Given the description of an element on the screen output the (x, y) to click on. 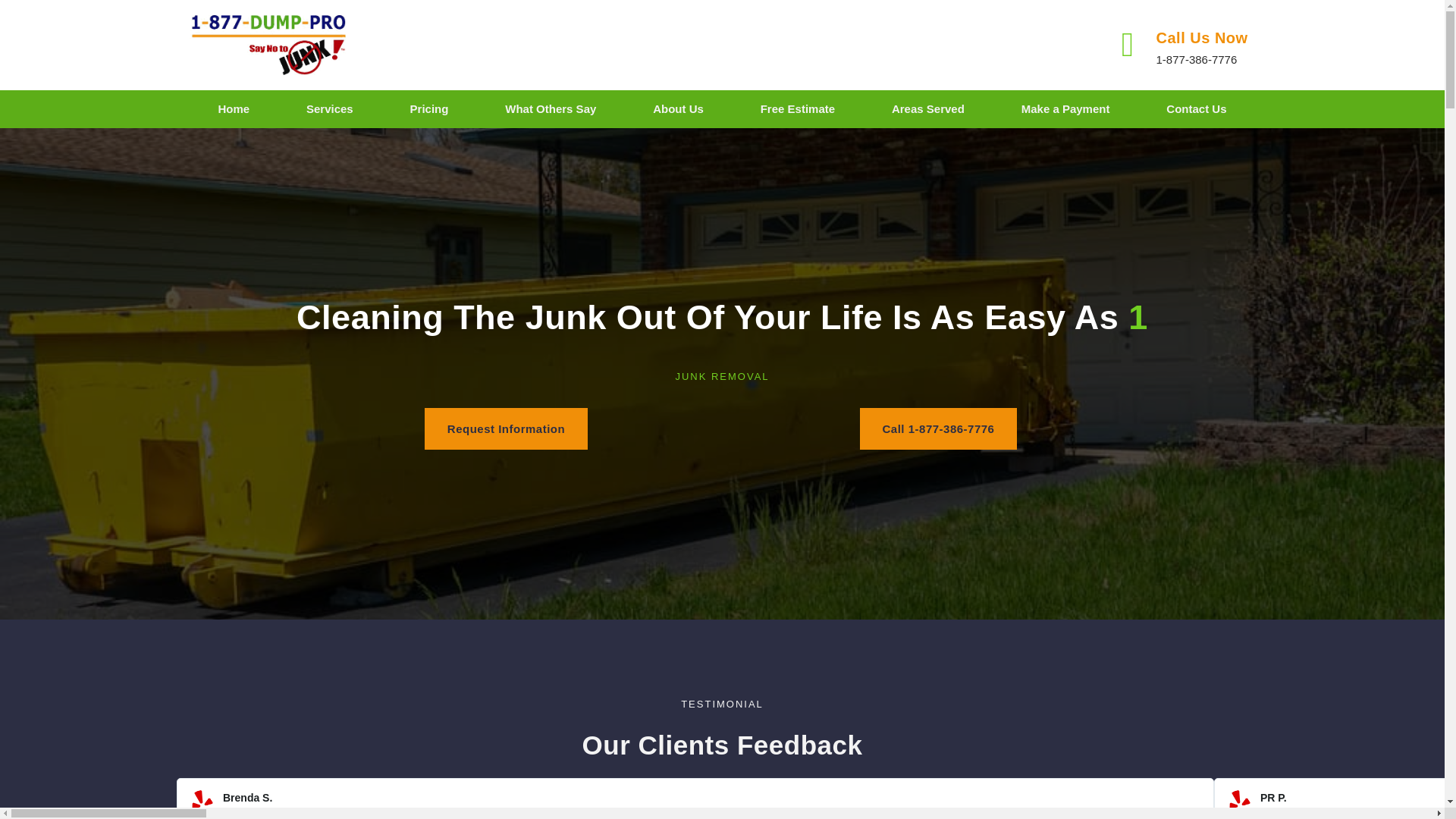
Contact Us (1196, 109)
Free Estimate (797, 109)
Areas Served (927, 109)
Make a Payment (1065, 109)
Home (233, 109)
Call Us Now (1201, 37)
About Us (678, 109)
Pricing (429, 109)
Services (329, 109)
What Others Say (550, 109)
